Given the description of an element on the screen output the (x, y) to click on. 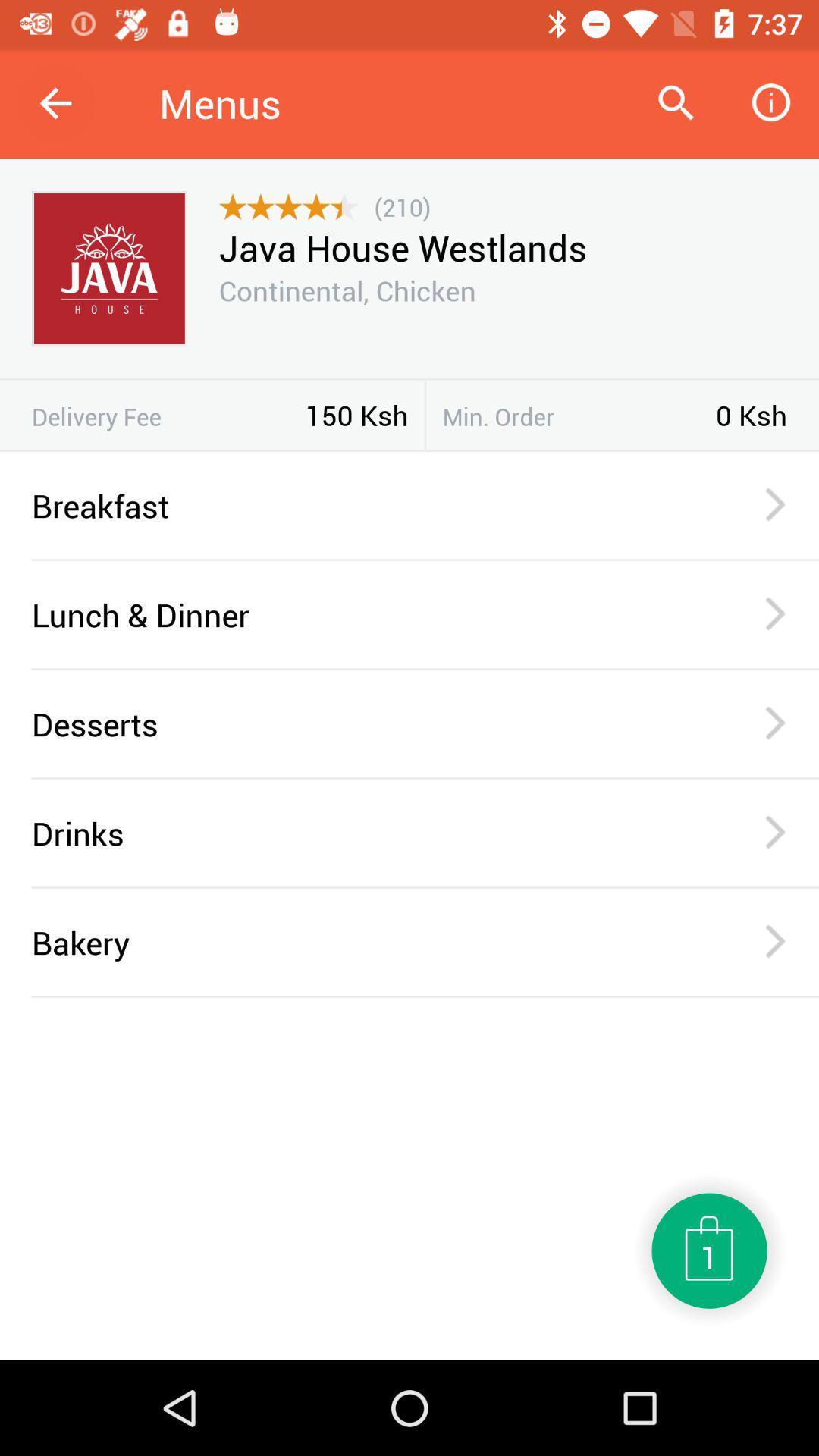
scroll to java house westlands item (402, 247)
